Given the description of an element on the screen output the (x, y) to click on. 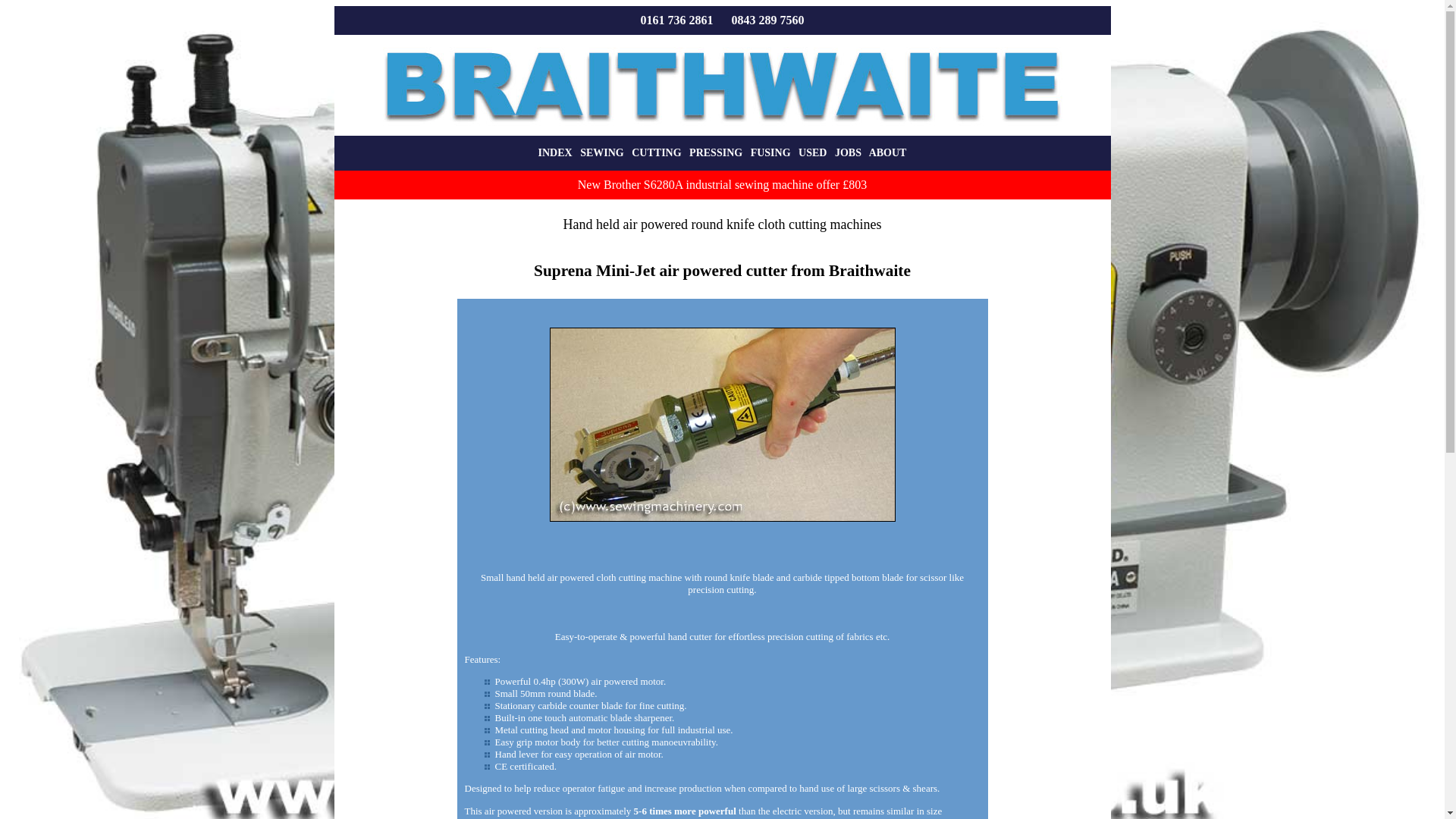
News from Braithwaite Sewing Machines (847, 152)
USED (812, 152)
Braithwaite Sewing Machines (721, 129)
0161 736 2861 (676, 19)
New and Used Sewing Machines (601, 152)
Braithwaite Index Page (555, 152)
0843 289 7560 (766, 19)
Fusing Presses (770, 152)
ABOUT (888, 152)
INDEX (555, 152)
